Given the description of an element on the screen output the (x, y) to click on. 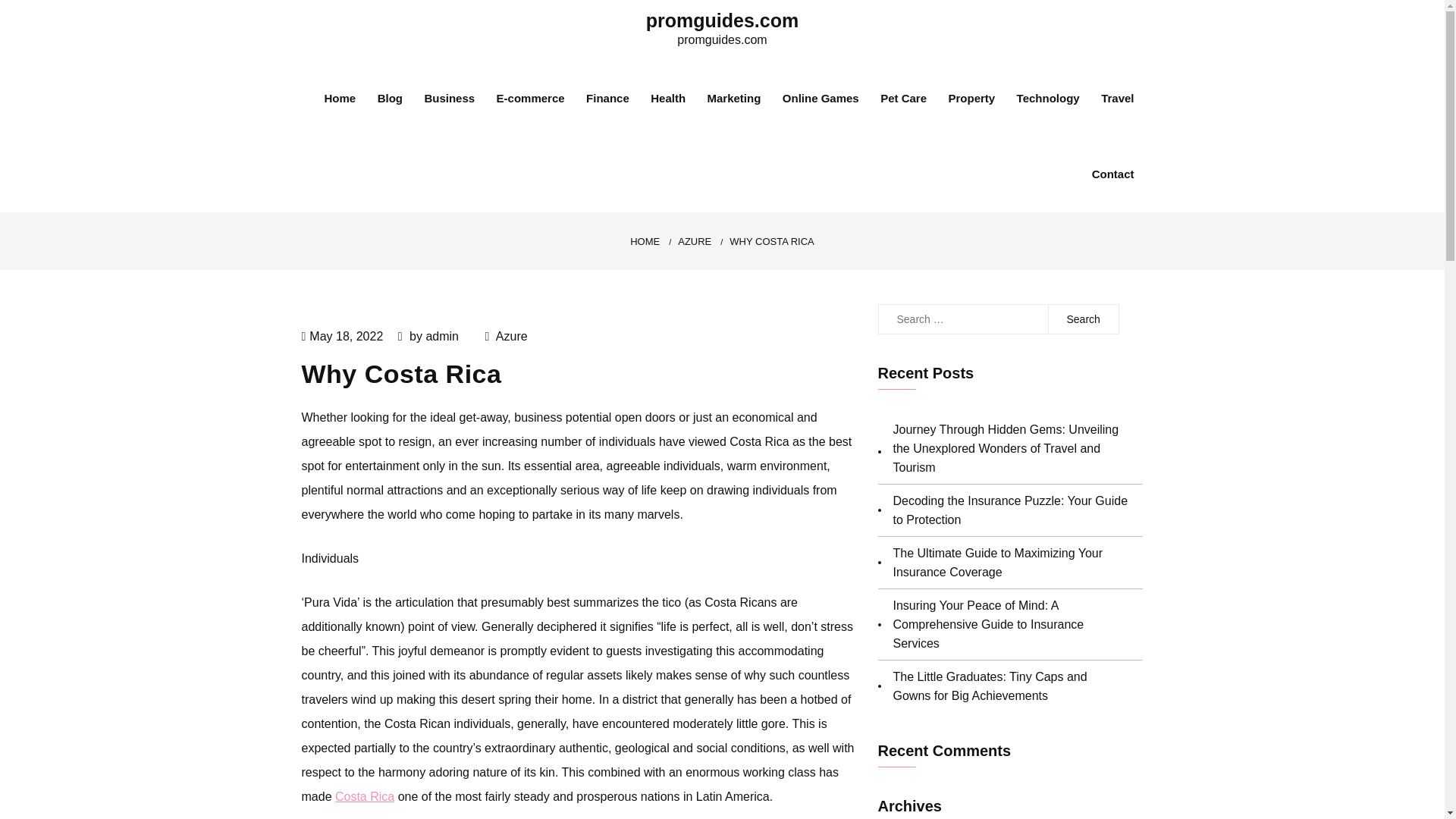
Azure (511, 336)
Costa Rica (364, 796)
Online Games (821, 98)
Decoding the Insurance Puzzle: Your Guide to Protection (1010, 509)
E-commerce (530, 98)
AZURE (694, 241)
Search (1083, 318)
admin (441, 336)
promguides.com (721, 20)
